Given the description of an element on the screen output the (x, y) to click on. 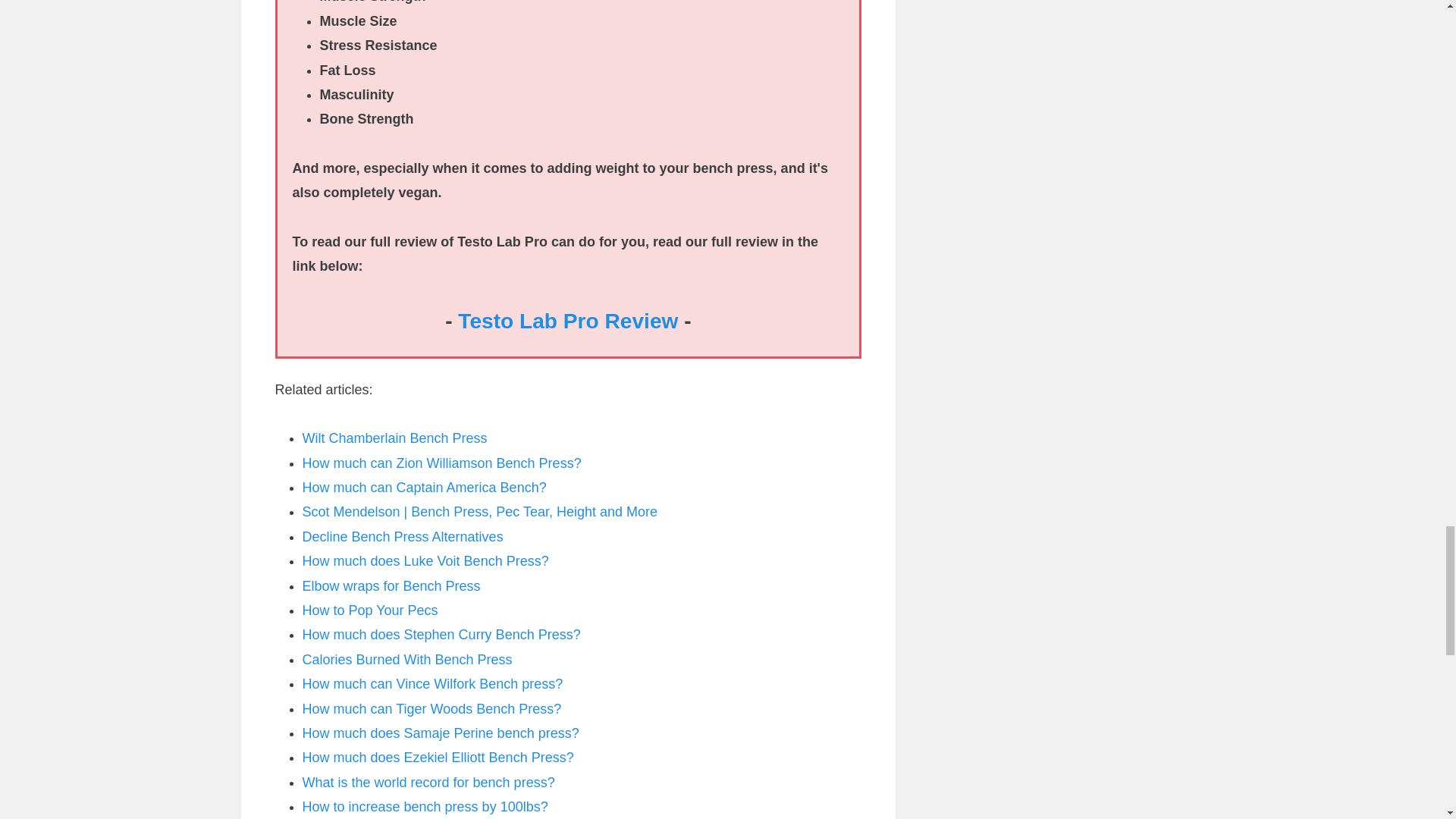
How much does Ezekiel Elliott Bench Press? (437, 757)
How much does Ezekiel Elliott Bench Press? (437, 757)
How to Pop Your Pecs (369, 610)
How to increase bench press by 100lbs? (424, 806)
Decline Bench Press Alternatives (401, 536)
How much does Samaje Perine bench press? (439, 733)
Calories Burned With Bench Press (406, 659)
Calories Burned With Bench Press (406, 659)
How much can Zion Williamson Bench Press? (440, 462)
Wilt Chamberlain Bench Press (393, 437)
